Given the description of an element on the screen output the (x, y) to click on. 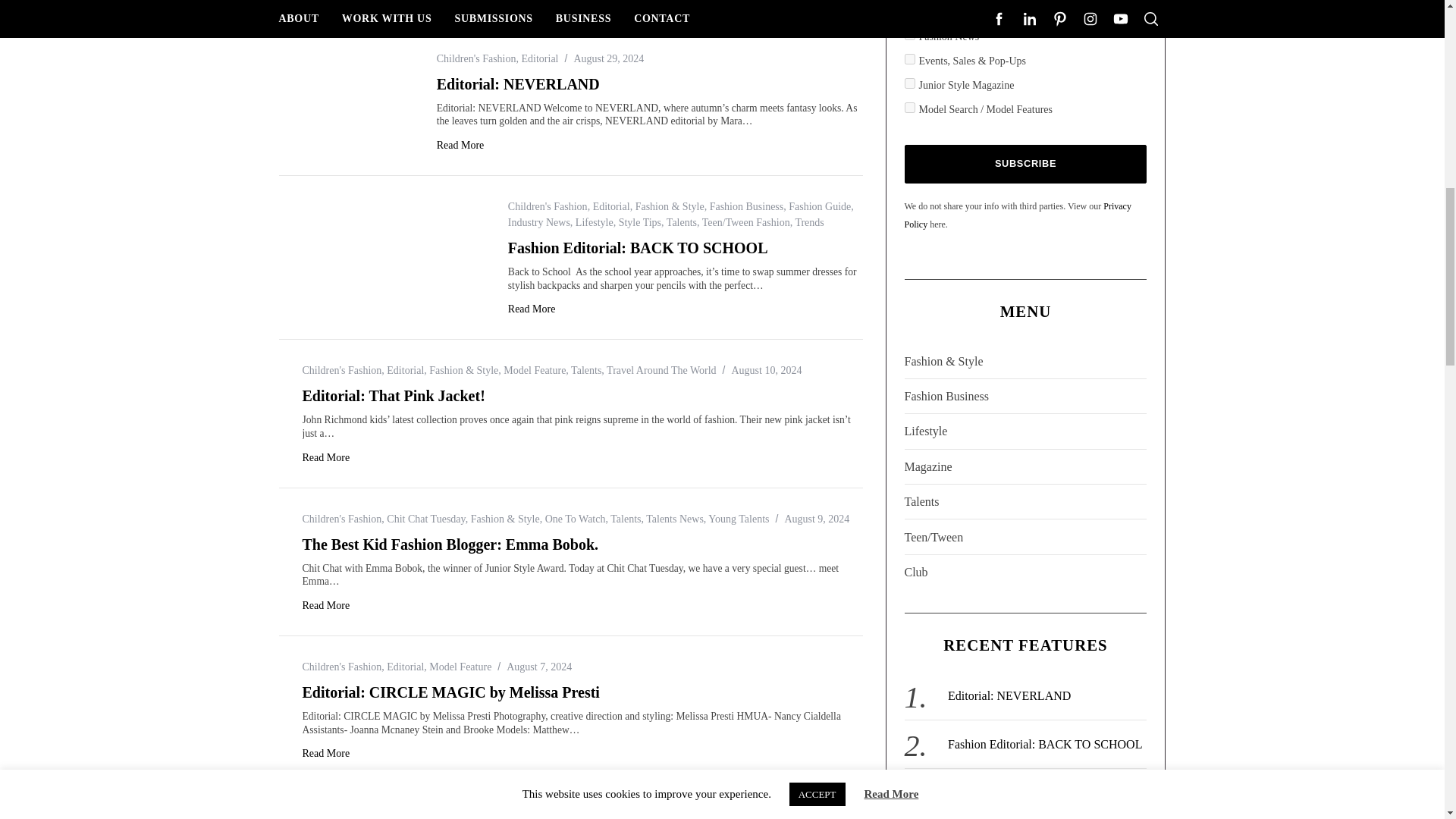
Subscribe (1025, 163)
Editorial: NEVERLAND (346, 59)
Fashion Editorial: BACK TO SCHOOL (381, 208)
